Given the description of an element on the screen output the (x, y) to click on. 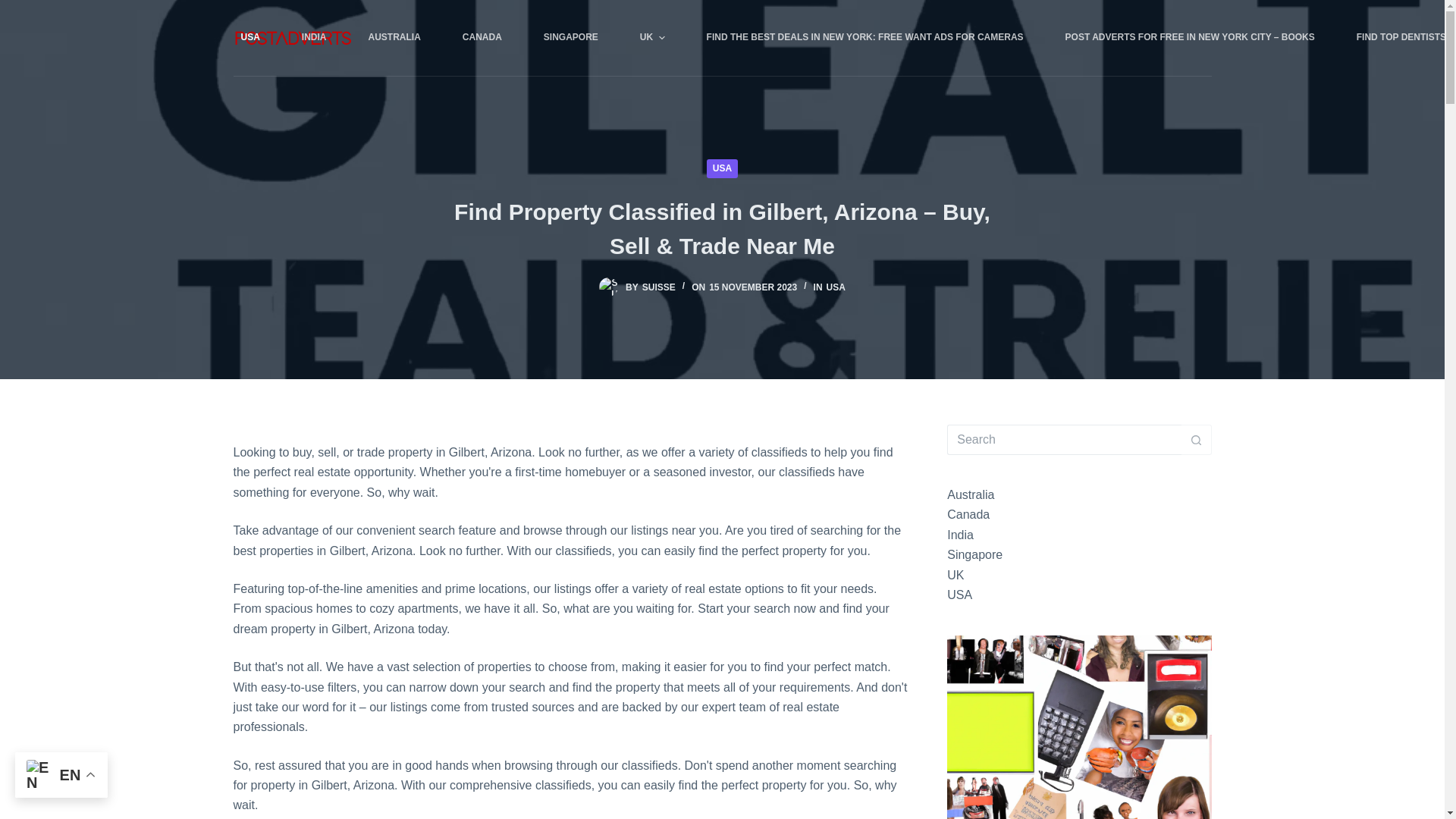
SINGAPORE (570, 38)
FIND THE BEST DEALS IN NEW YORK: FREE WANT ADS FOR CAMERAS (864, 38)
USA (261, 38)
CANADA (481, 38)
INDIA (314, 38)
Posts by suisse (658, 286)
UK (651, 38)
Skip to content (15, 7)
AUSTRALIA (394, 38)
